Given the description of an element on the screen output the (x, y) to click on. 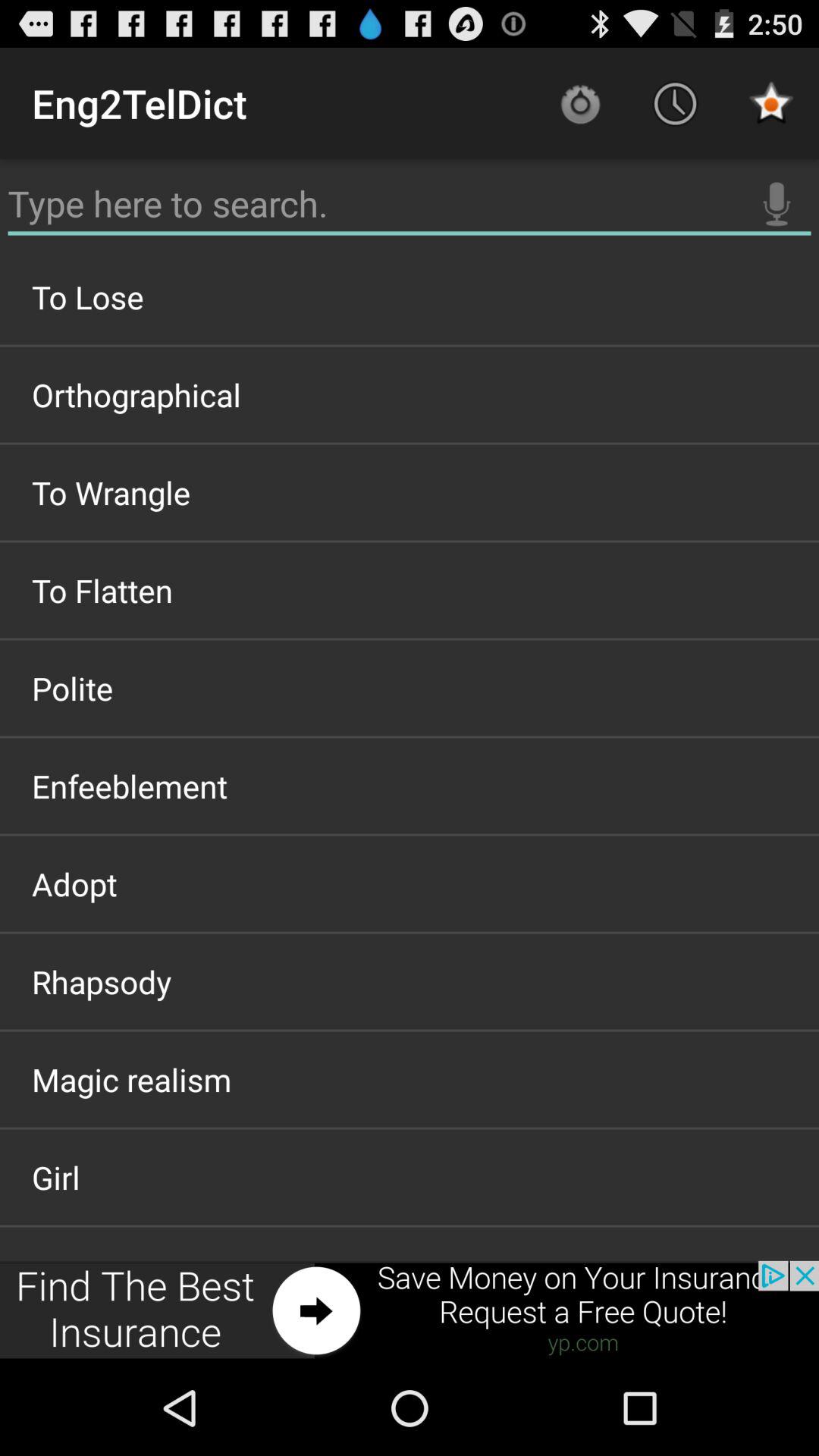
go to advertising site (409, 1310)
